Given the description of an element on the screen output the (x, y) to click on. 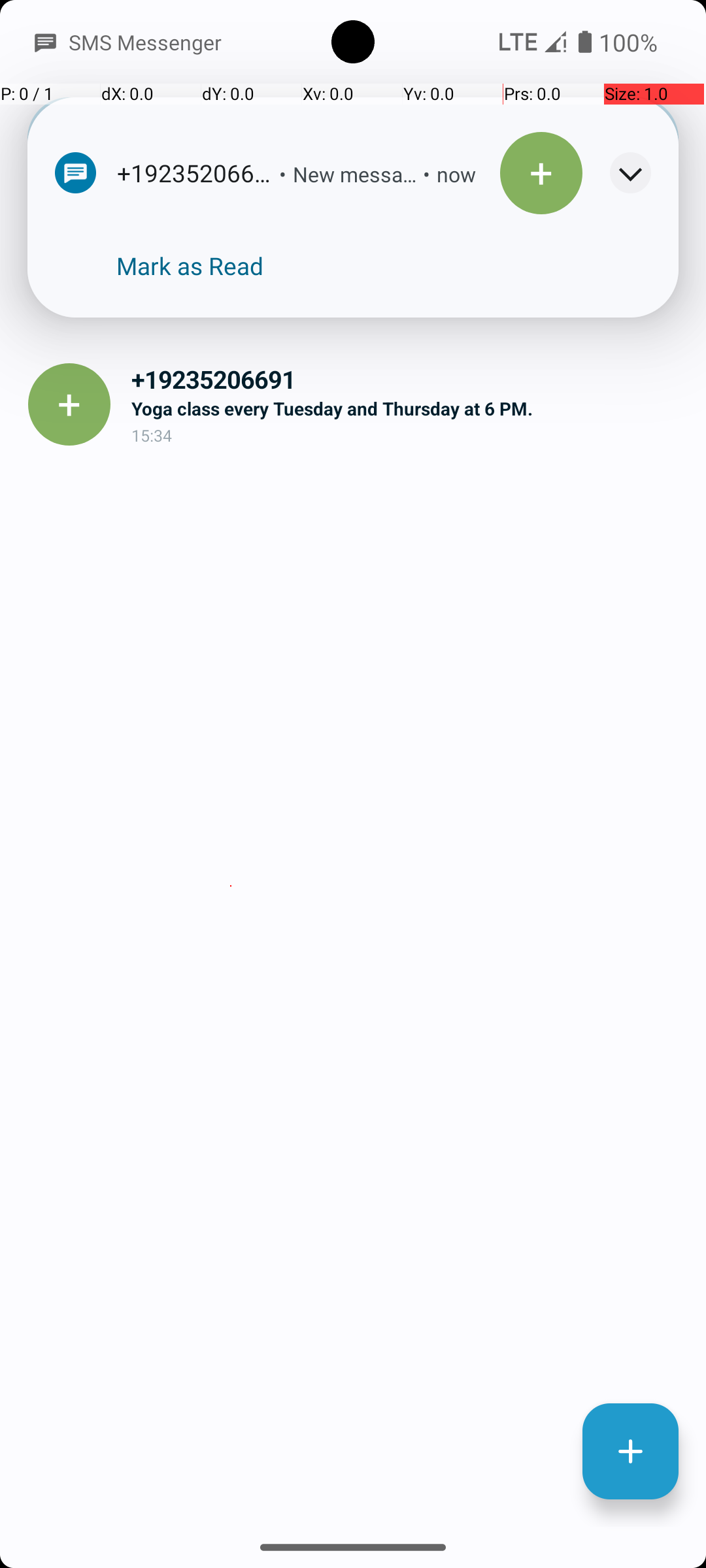
+15785288010 Element type: android.widget.TextView (408, 237)
The squeaky wheel gets the grease. Element type: android.widget.TextView (408, 266)
+19235206691 Element type: android.widget.TextView (408, 378)
Yoga class every Tuesday and Thursday at 6 PM. Element type: android.widget.TextView (408, 407)
Mark as Read Element type: android.widget.Button (189, 265)
• Element type: android.widget.TextView (254, 174)
New message Element type: android.widget.TextView (326, 174)
now Element type: android.widget.TextView (427, 174)
Alerted Element type: android.widget.ImageView (468, 175)
